Given the description of an element on the screen output the (x, y) to click on. 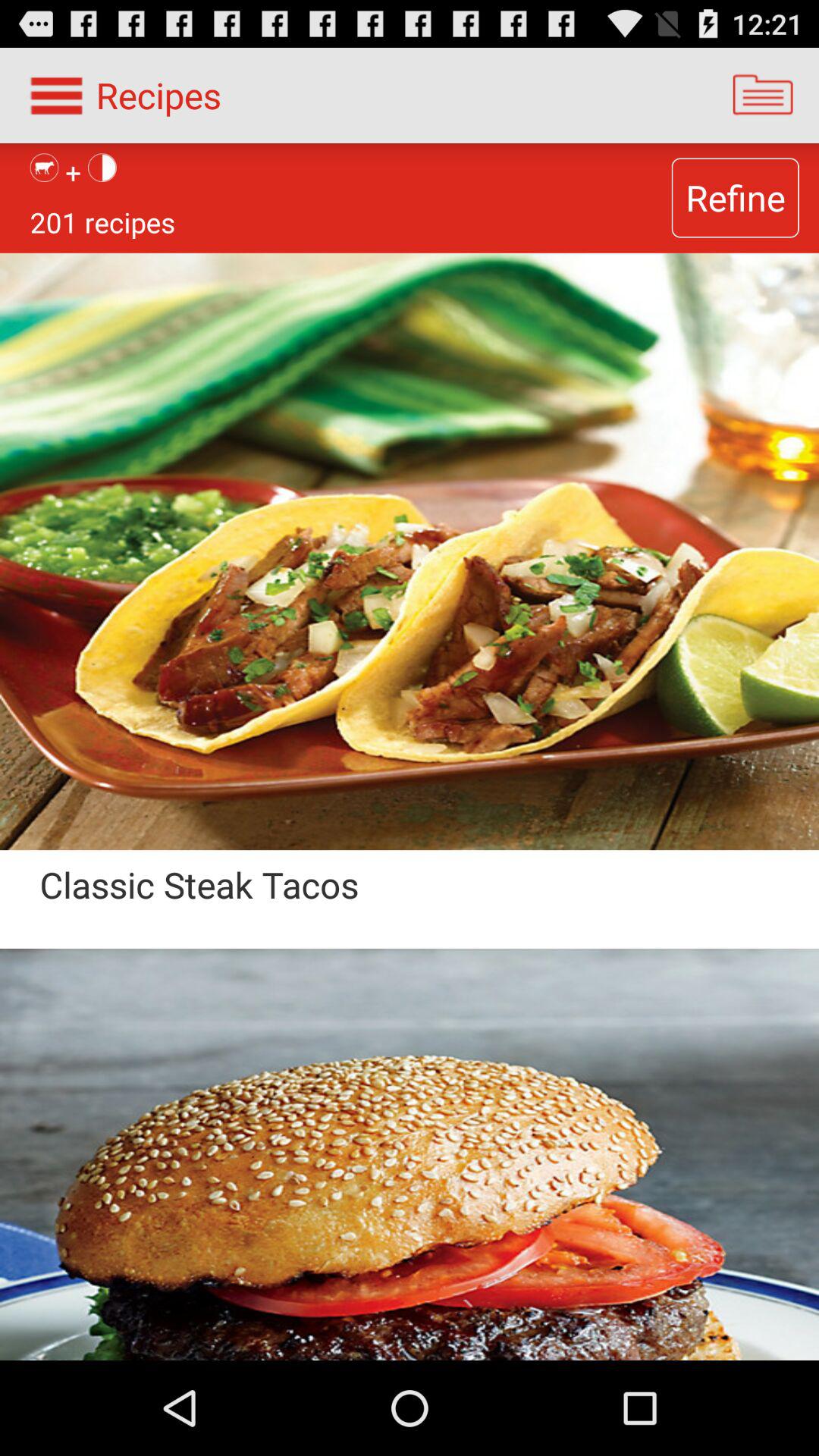
open the classic steak tacos app (332, 904)
